Given the description of an element on the screen output the (x, y) to click on. 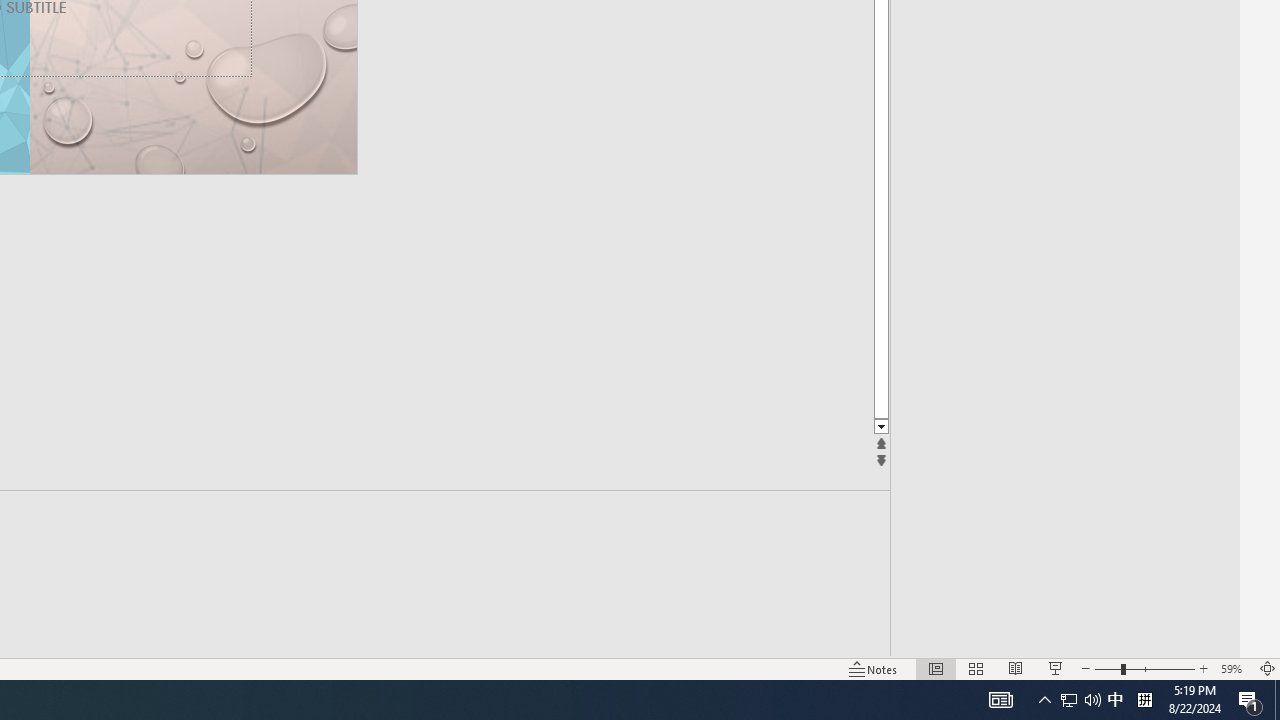
Zoom 59% (1234, 668)
